Given the description of an element on the screen output the (x, y) to click on. 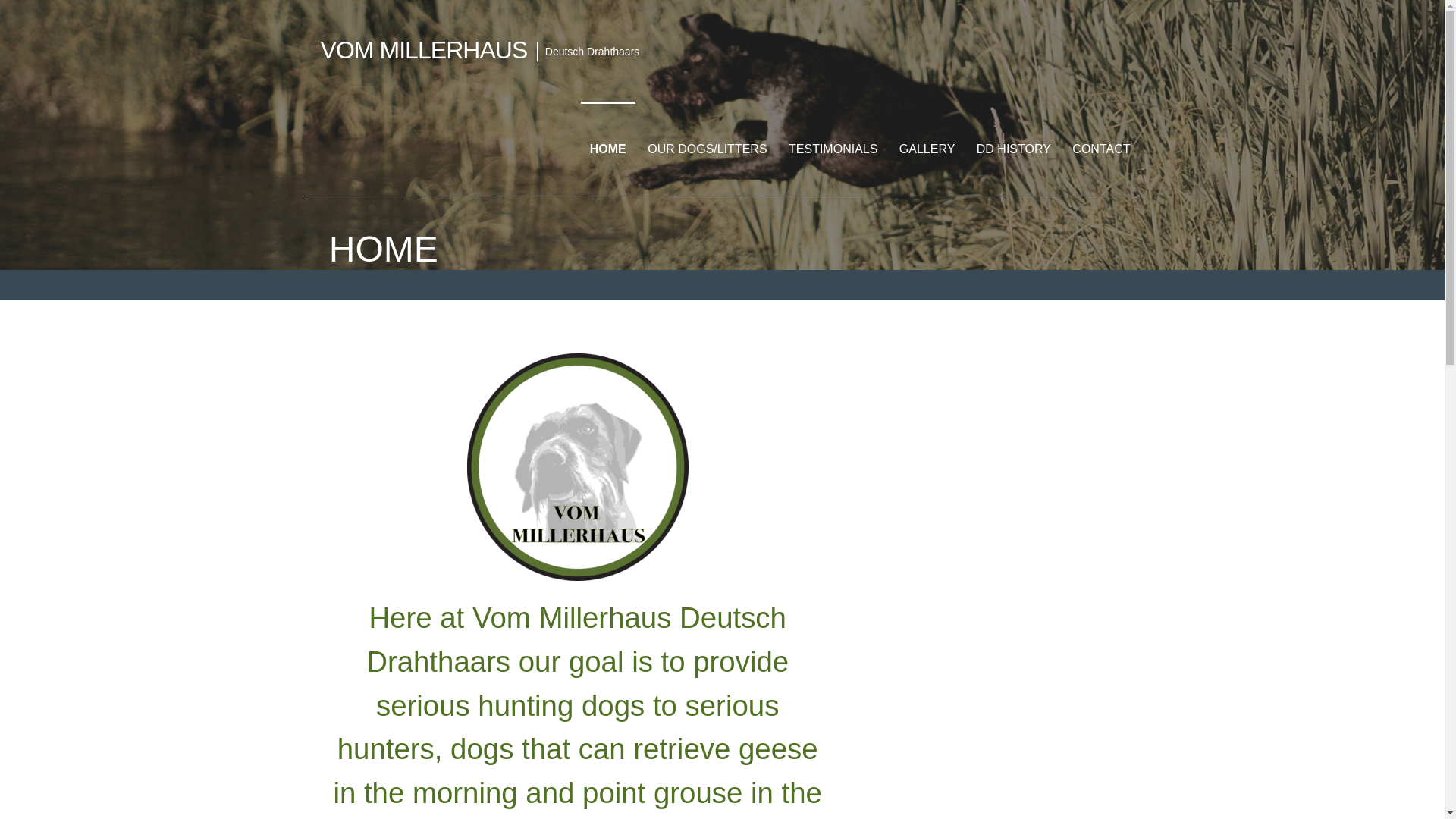
DD HISTORY (1013, 148)
VOM MILLERHAUS (423, 49)
TESTIMONIALS (832, 148)
